Given the description of an element on the screen output the (x, y) to click on. 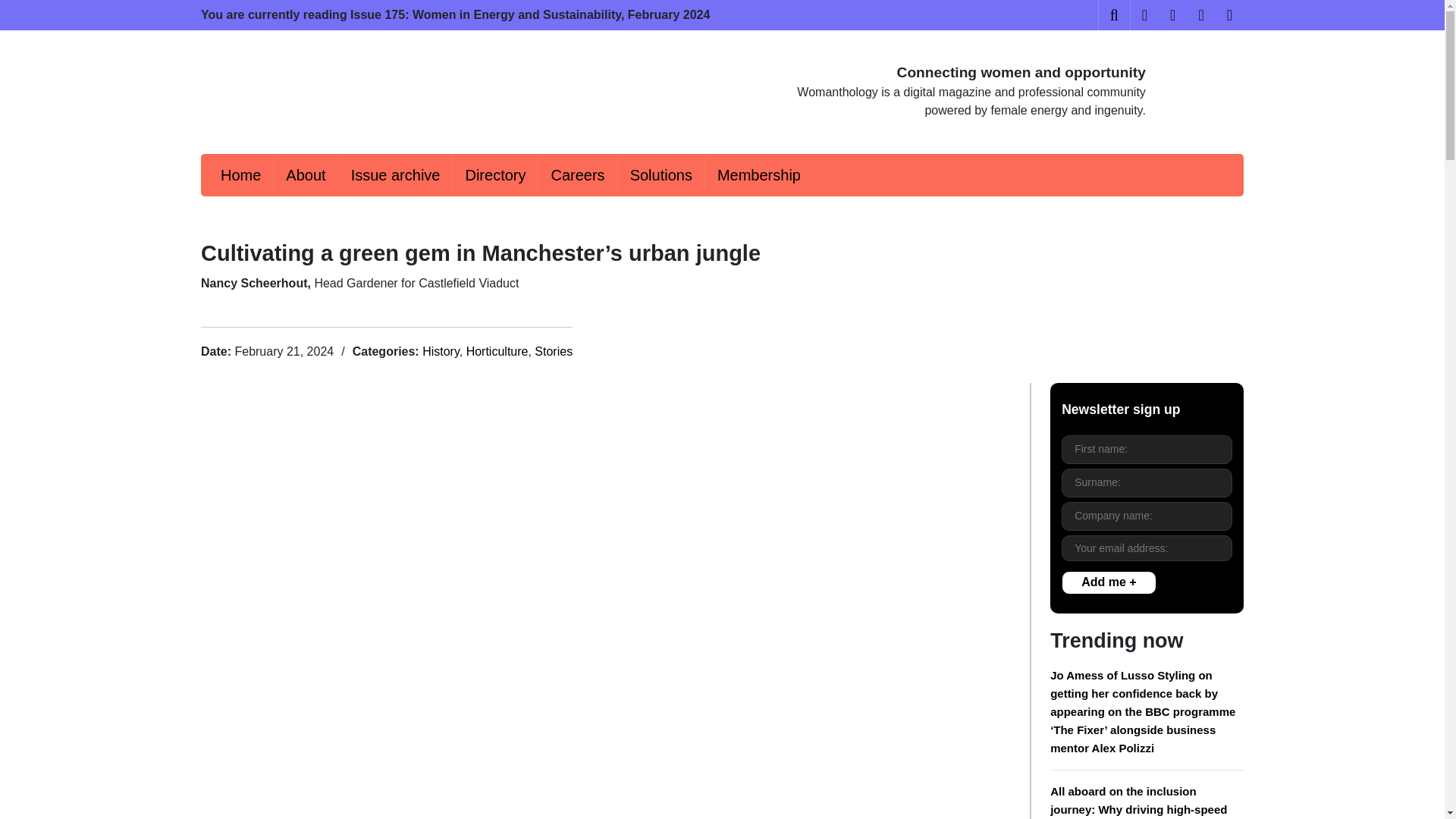
Careers (576, 174)
Stories (553, 350)
About (305, 174)
Membership (758, 174)
Solutions (660, 174)
History (441, 350)
Issue archive (395, 174)
Horticulture (496, 350)
Directory (494, 174)
